Given the description of an element on the screen output the (x, y) to click on. 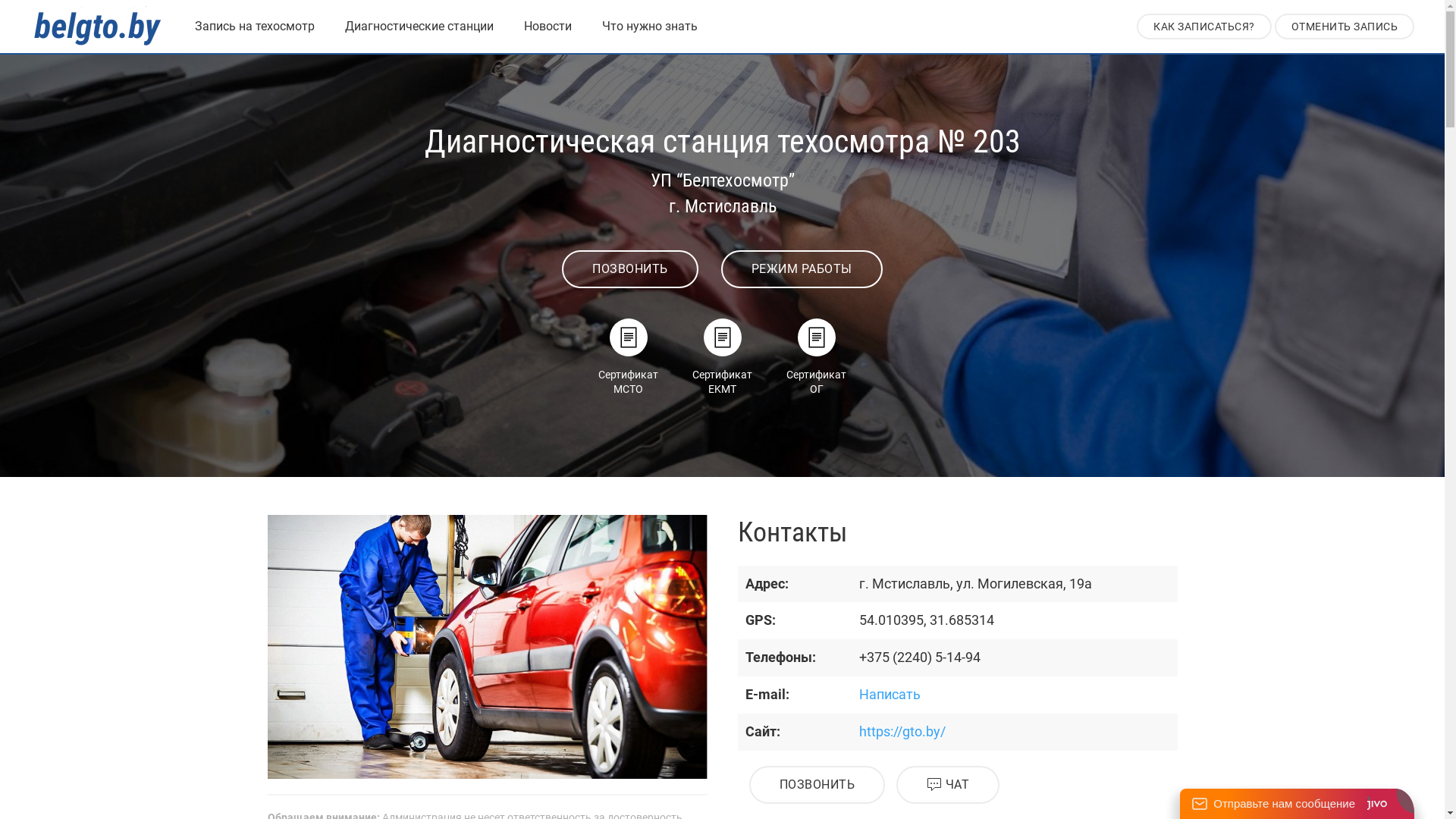
https://gto.by/ Element type: text (901, 731)
